Given the description of an element on the screen output the (x, y) to click on. 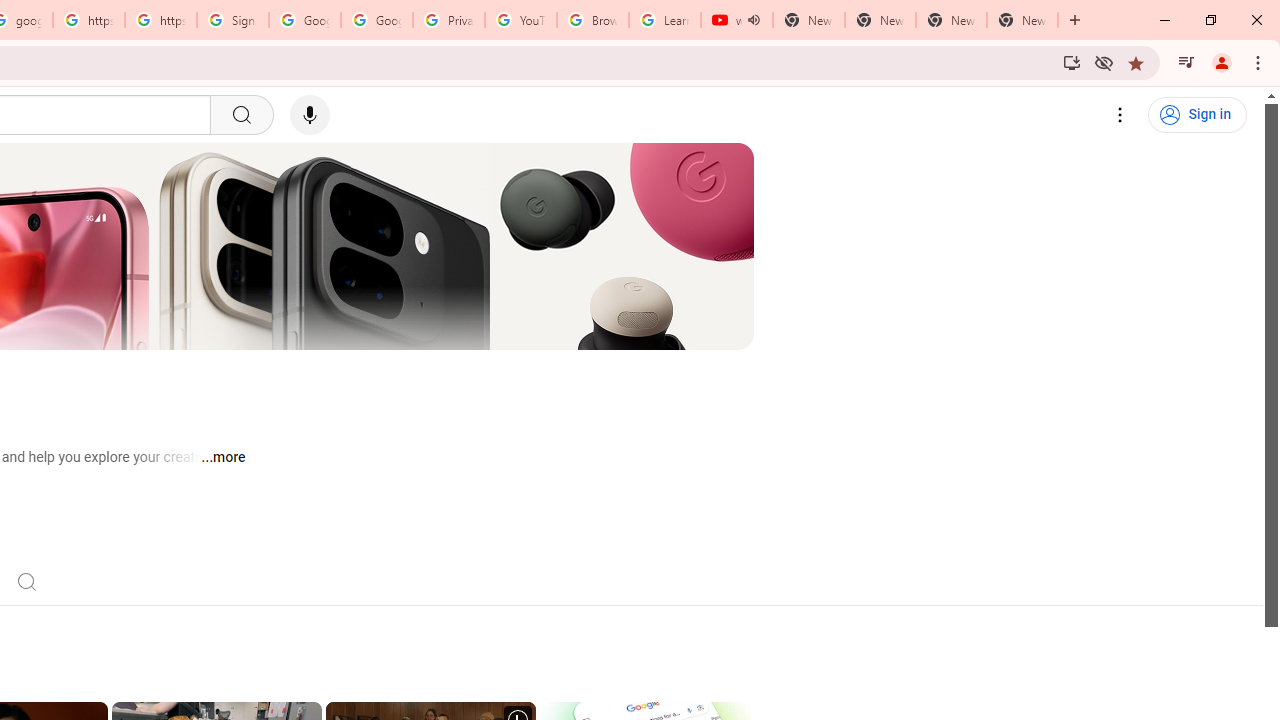
Install YouTube (1071, 62)
YouTube (520, 20)
https://scholar.google.com/ (161, 20)
Mute tab (753, 20)
https://scholar.google.com/ (88, 20)
